Given the description of an element on the screen output the (x, y) to click on. 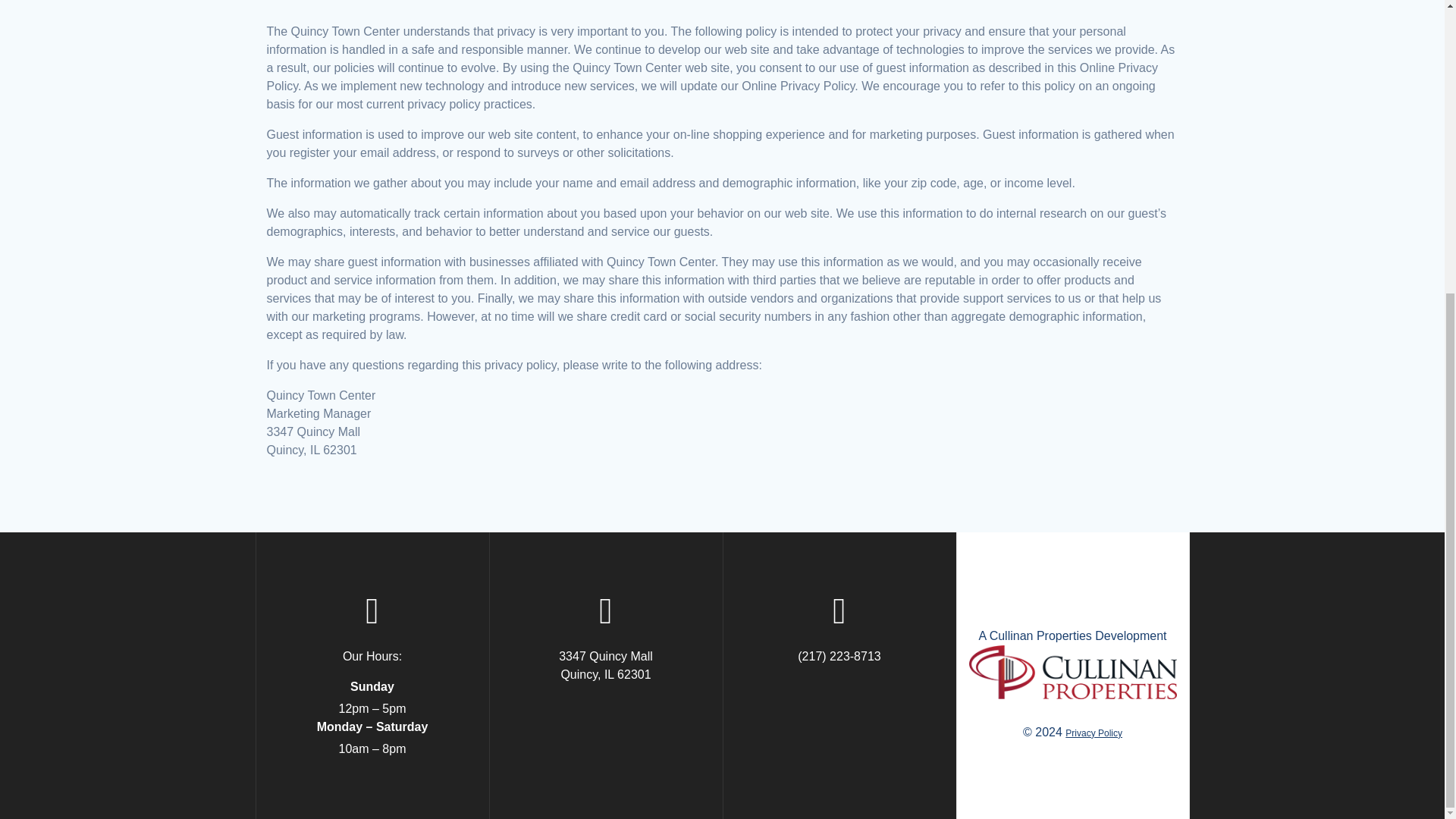
Privacy Policy (605, 665)
